Given the description of an element on the screen output the (x, y) to click on. 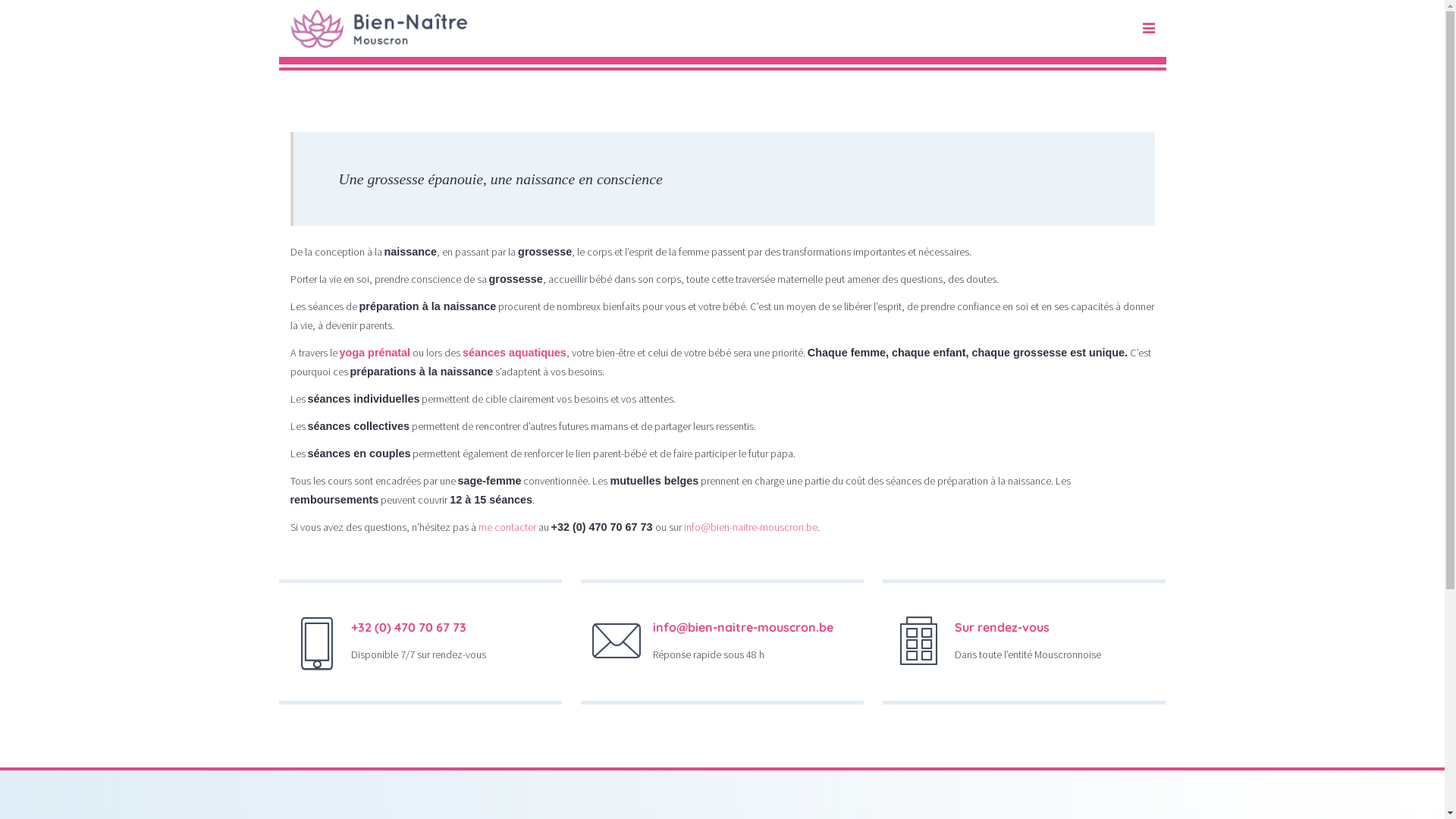
info@bien-naitre-mouscron.be Element type: text (750, 526)
me contacter Element type: text (506, 526)
